Given the description of an element on the screen output the (x, y) to click on. 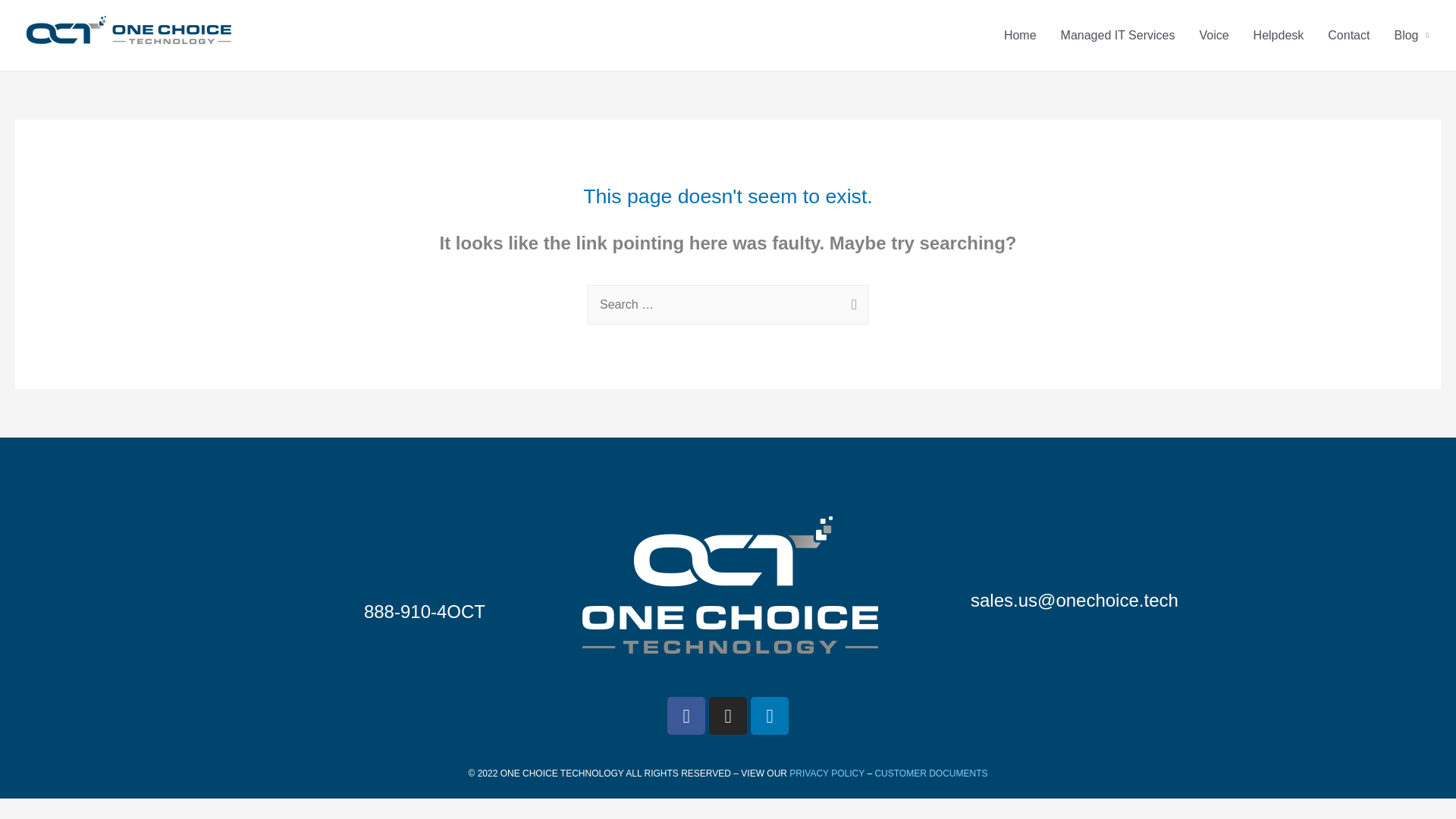
CUSTOMER DOCUMENTS (931, 773)
PRIVACY POLICY (826, 773)
Blog (1411, 34)
Home (1019, 34)
Managed IT Services (1118, 34)
Helpdesk (1278, 34)
Contact (1348, 34)
Voice (1213, 34)
